Given the description of an element on the screen output the (x, y) to click on. 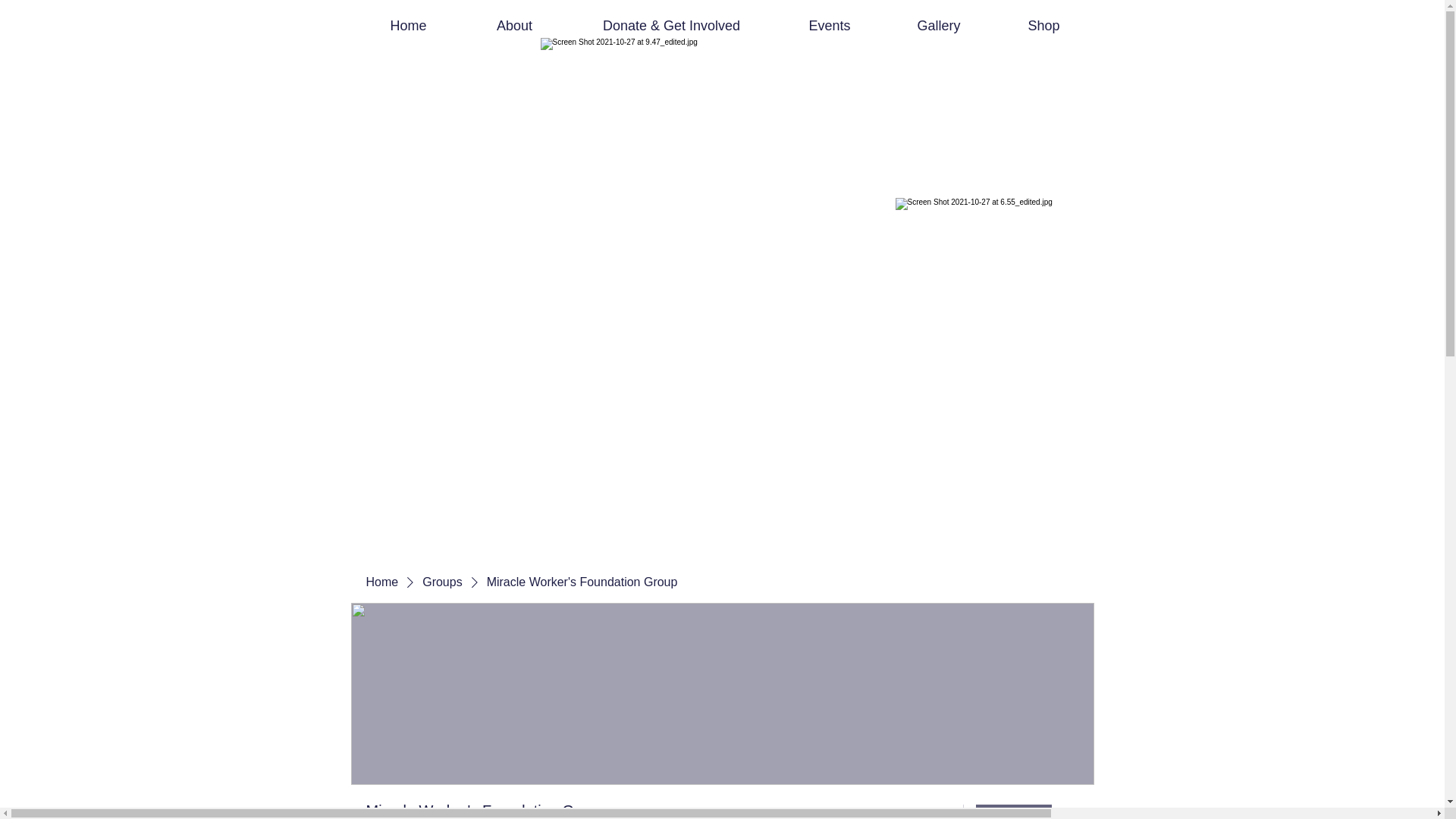
Home (381, 582)
Events (828, 18)
Home (408, 18)
About (514, 18)
Gallery (938, 18)
Groups (441, 582)
Join (1013, 811)
Shop (1042, 18)
